Given the description of an element on the screen output the (x, y) to click on. 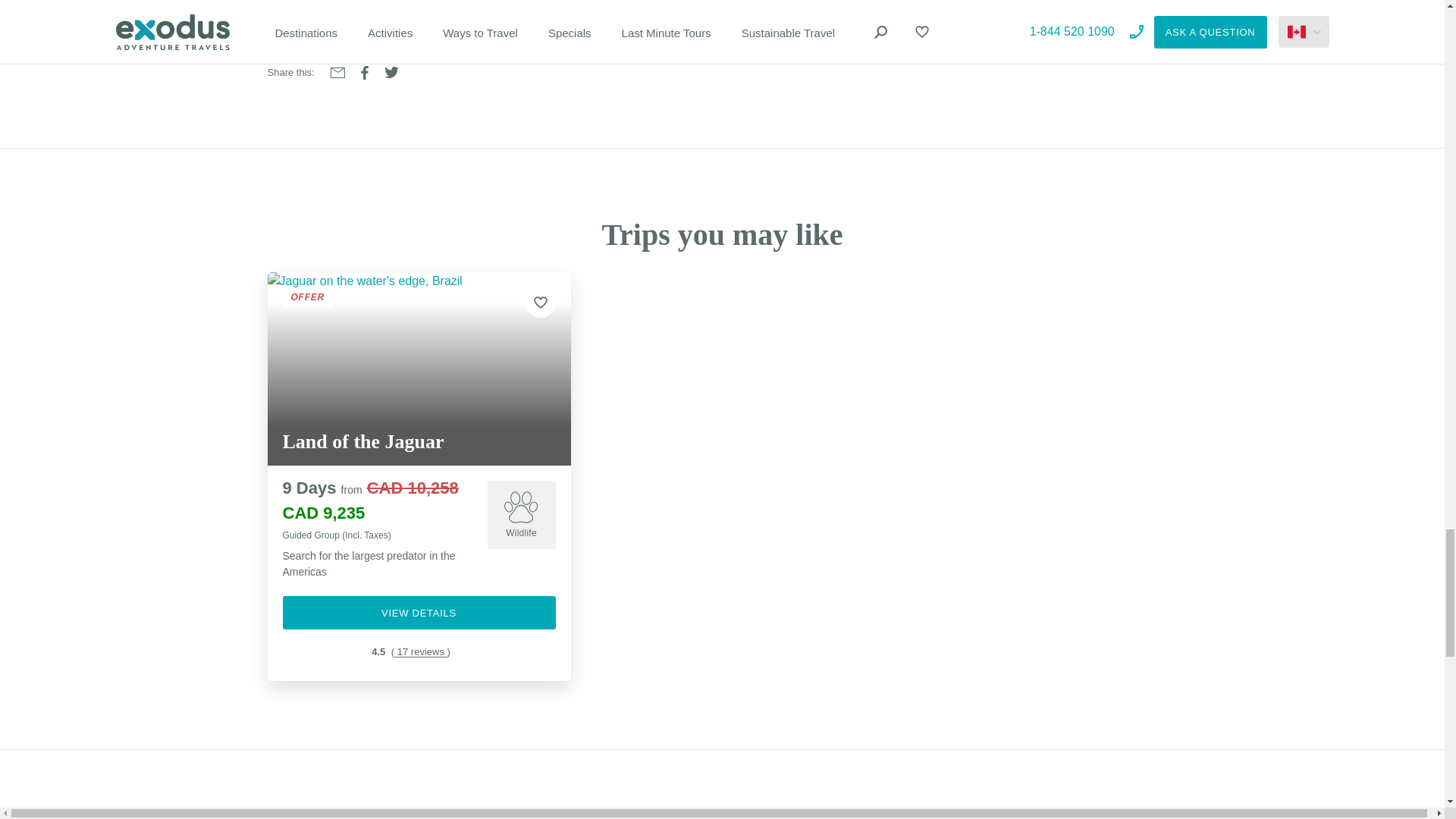
Share by Email (337, 72)
Share by Twitter (391, 71)
